Given the description of an element on the screen output the (x, y) to click on. 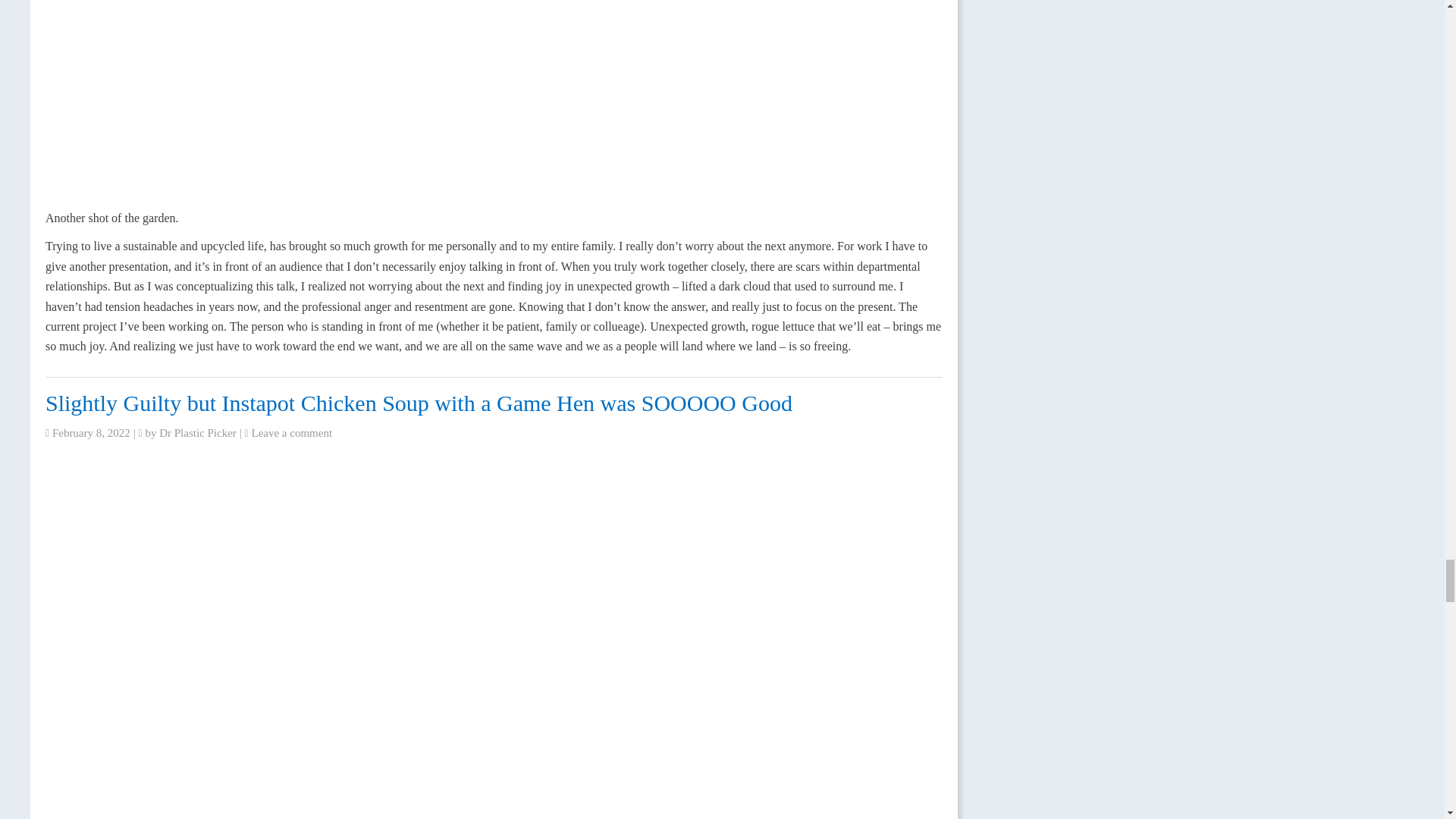
Leave a comment (290, 432)
Dr Plastic Picker (196, 432)
